Given the description of an element on the screen output the (x, y) to click on. 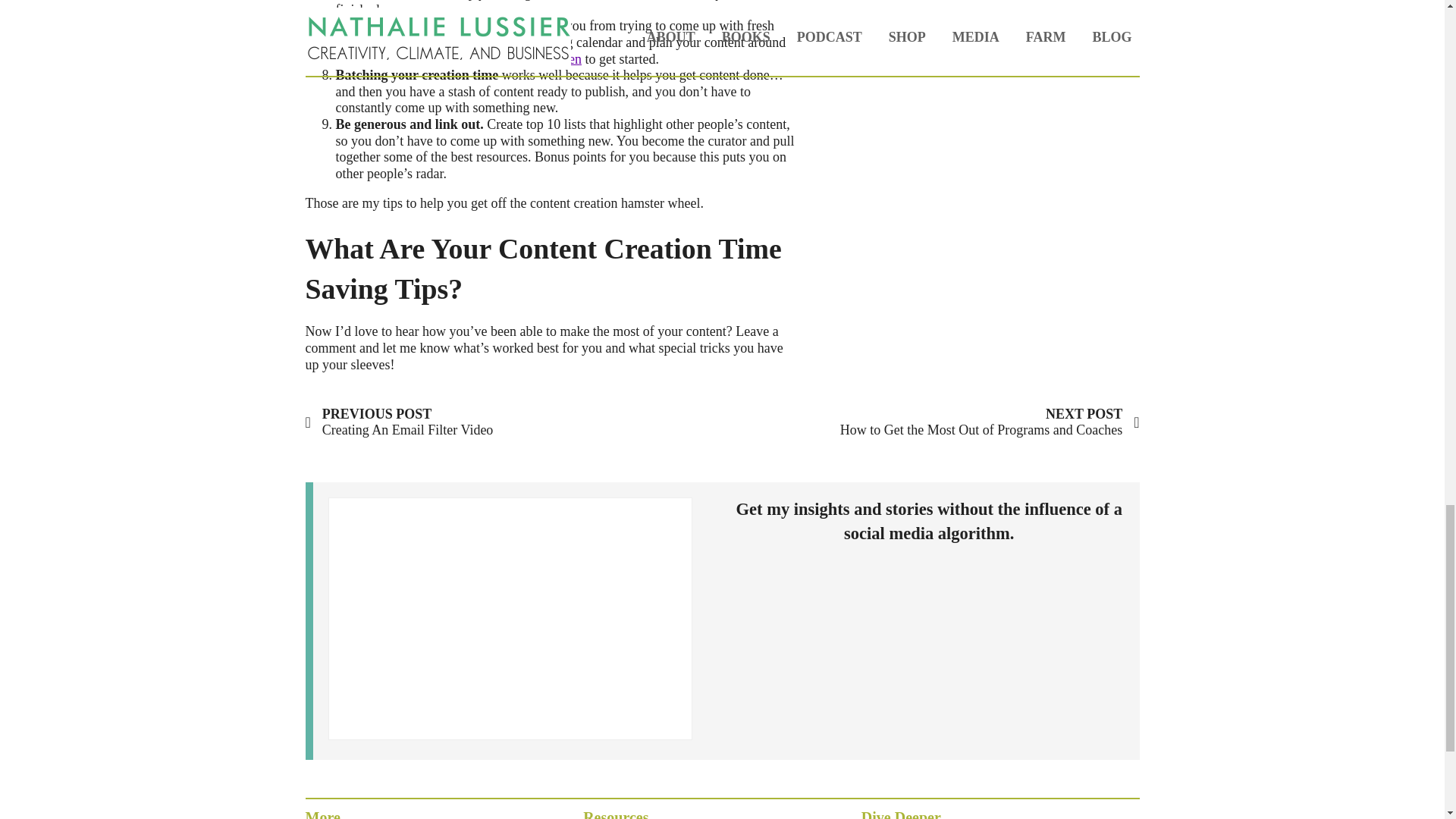
use an idea garden (990, 422)
